Given the description of an element on the screen output the (x, y) to click on. 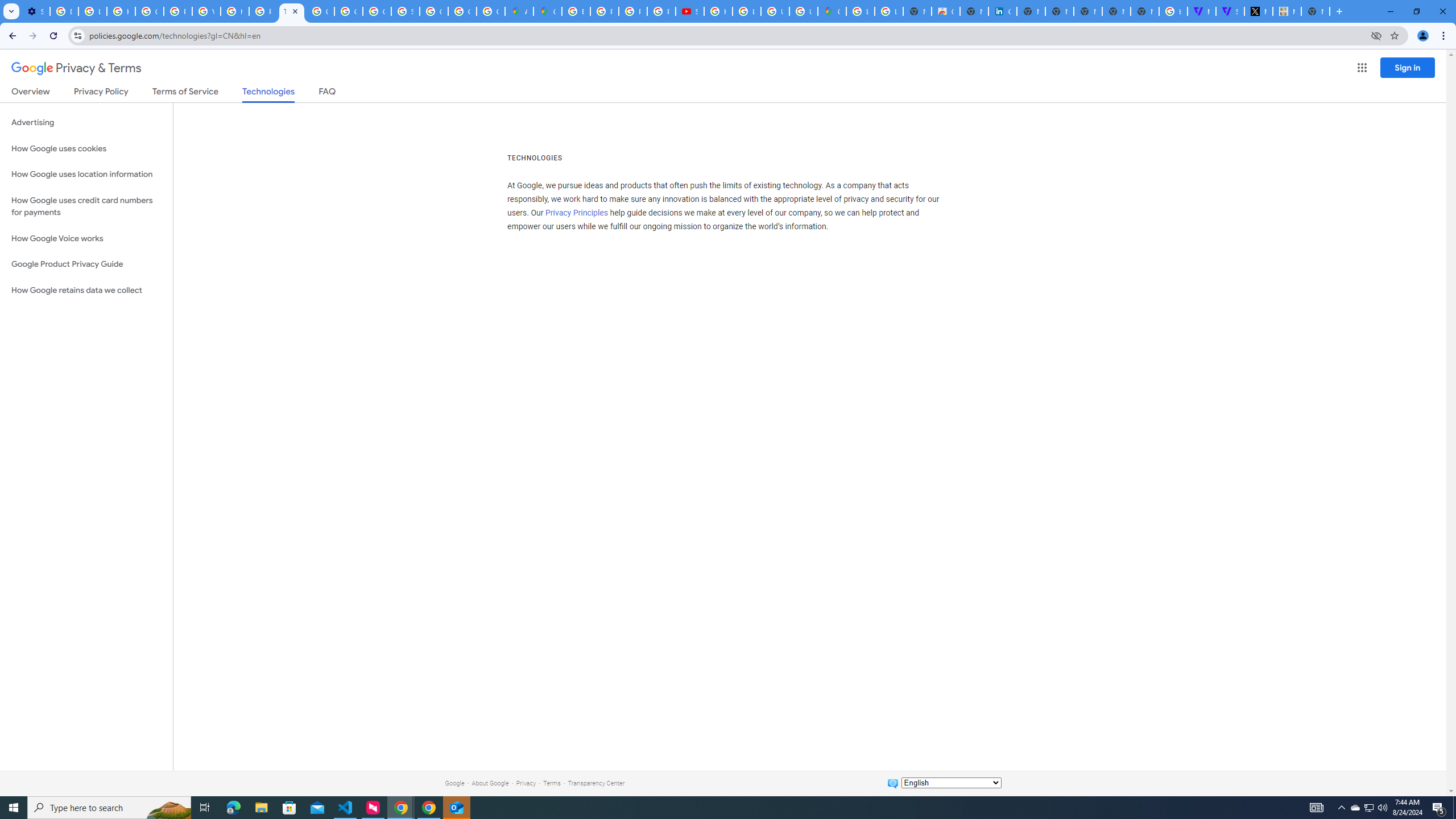
Chrome Web Store (945, 11)
How Google uses cookies (86, 148)
Google Maps (547, 11)
Subscriptions - YouTube (690, 11)
New Tab (1315, 11)
Privacy Help Center - Policies Help (604, 11)
